Given the description of an element on the screen output the (x, y) to click on. 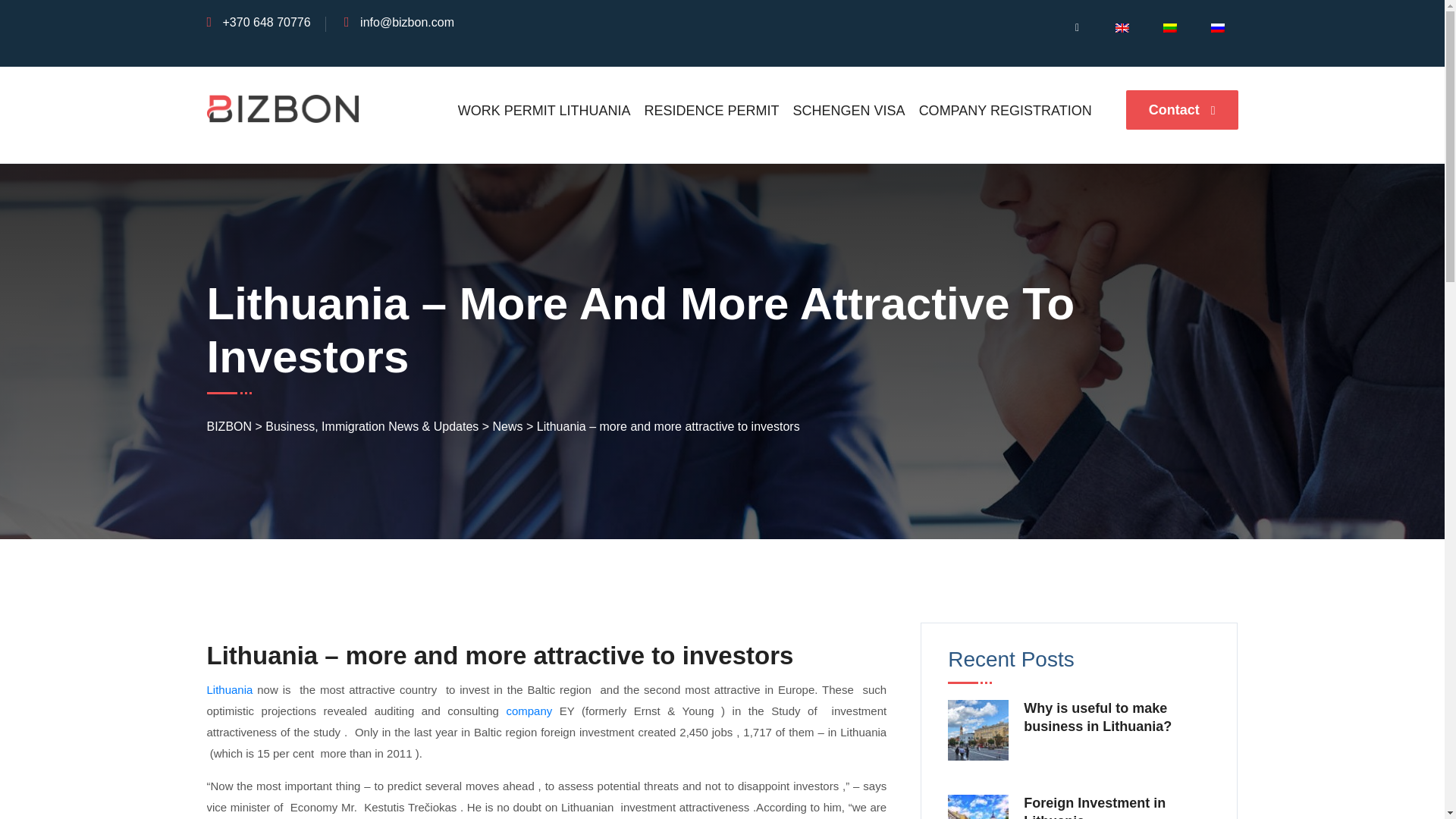
COMPANY REGISTRATION (1005, 110)
News (507, 426)
Contact (1182, 109)
WORK PERMIT LITHUANIA (544, 110)
SCHENGEN VISA (849, 110)
BIZBON (228, 426)
RESIDENCE PERMIT (711, 110)
company (528, 710)
Go to the News Category archives. (507, 426)
Go to BIZBON. (228, 426)
Lithuania (228, 689)
